Given the description of an element on the screen output the (x, y) to click on. 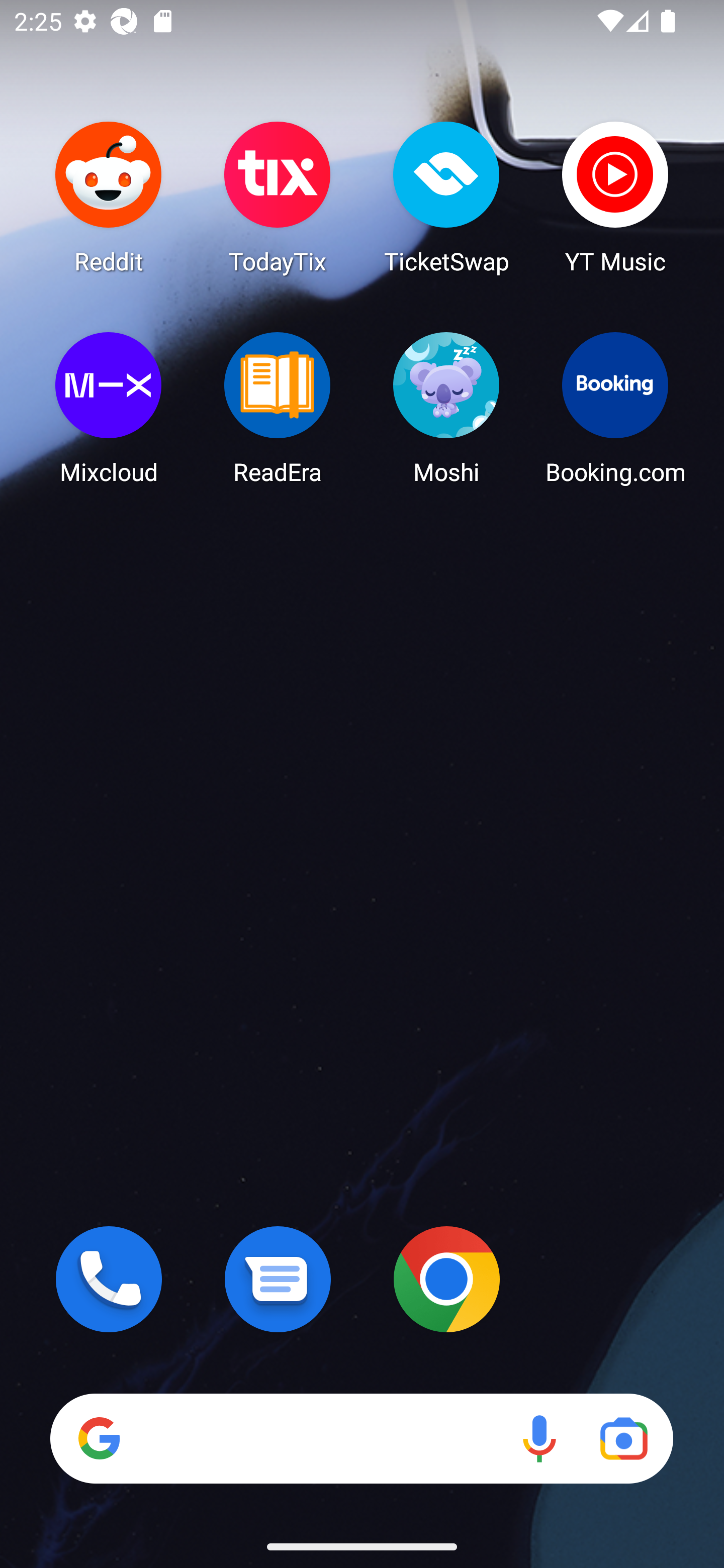
Reddit (108, 196)
TodayTix (277, 196)
TicketSwap (445, 196)
YT Music (615, 196)
Mixcloud (108, 407)
ReadEra (277, 407)
Moshi (445, 407)
Booking.com (615, 407)
Phone (108, 1279)
Messages (277, 1279)
Chrome (446, 1279)
Search Voice search Google Lens (361, 1438)
Voice search (539, 1438)
Google Lens (623, 1438)
